Given the description of an element on the screen output the (x, y) to click on. 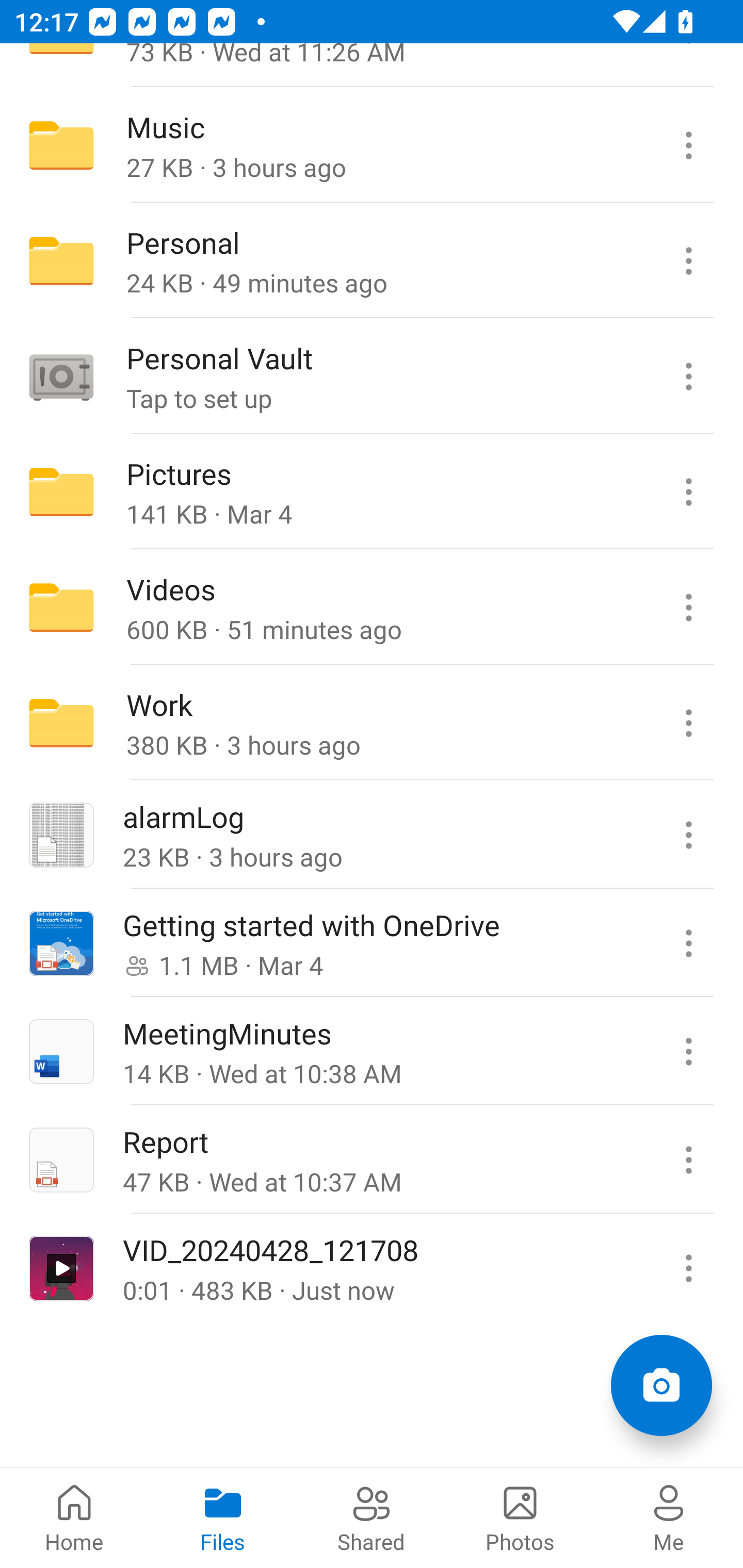
Folder Music 27 KB · 3 hours ago Music commands (371, 145)
Music commands (688, 145)
Personal commands (688, 260)
Personal Vault commands (688, 376)
Folder Pictures 141 KB · Mar 4 Pictures commands (371, 492)
Pictures commands (688, 492)
Videos commands (688, 607)
Folder Work 380 KB · 3 hours ago Work commands (371, 722)
Work commands (688, 722)
alarmLog commands (688, 834)
Getting started with OneDrive commands (688, 943)
MeetingMinutes commands (688, 1051)
Report commands (688, 1159)
VID_20240428_121708 commands (688, 1267)
Add items Scan (660, 1385)
Home pivot Home (74, 1517)
Shared pivot Shared (371, 1517)
Photos pivot Photos (519, 1517)
Me pivot Me (668, 1517)
